Given the description of an element on the screen output the (x, y) to click on. 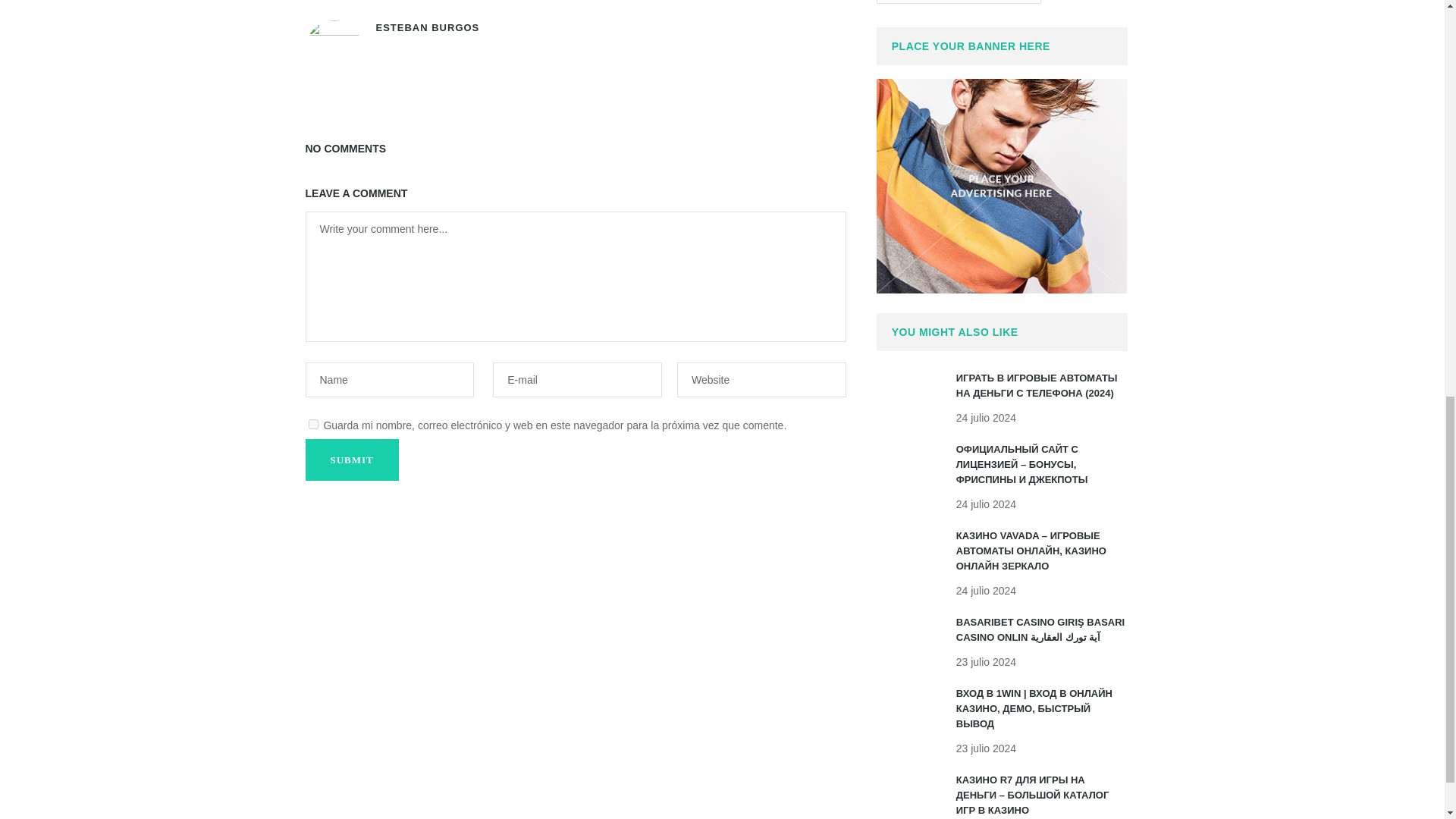
WWW.SUMMUSMEDIA.COM (958, 2)
yes (312, 424)
Submit (350, 459)
Submit (350, 459)
